Given the description of an element on the screen output the (x, y) to click on. 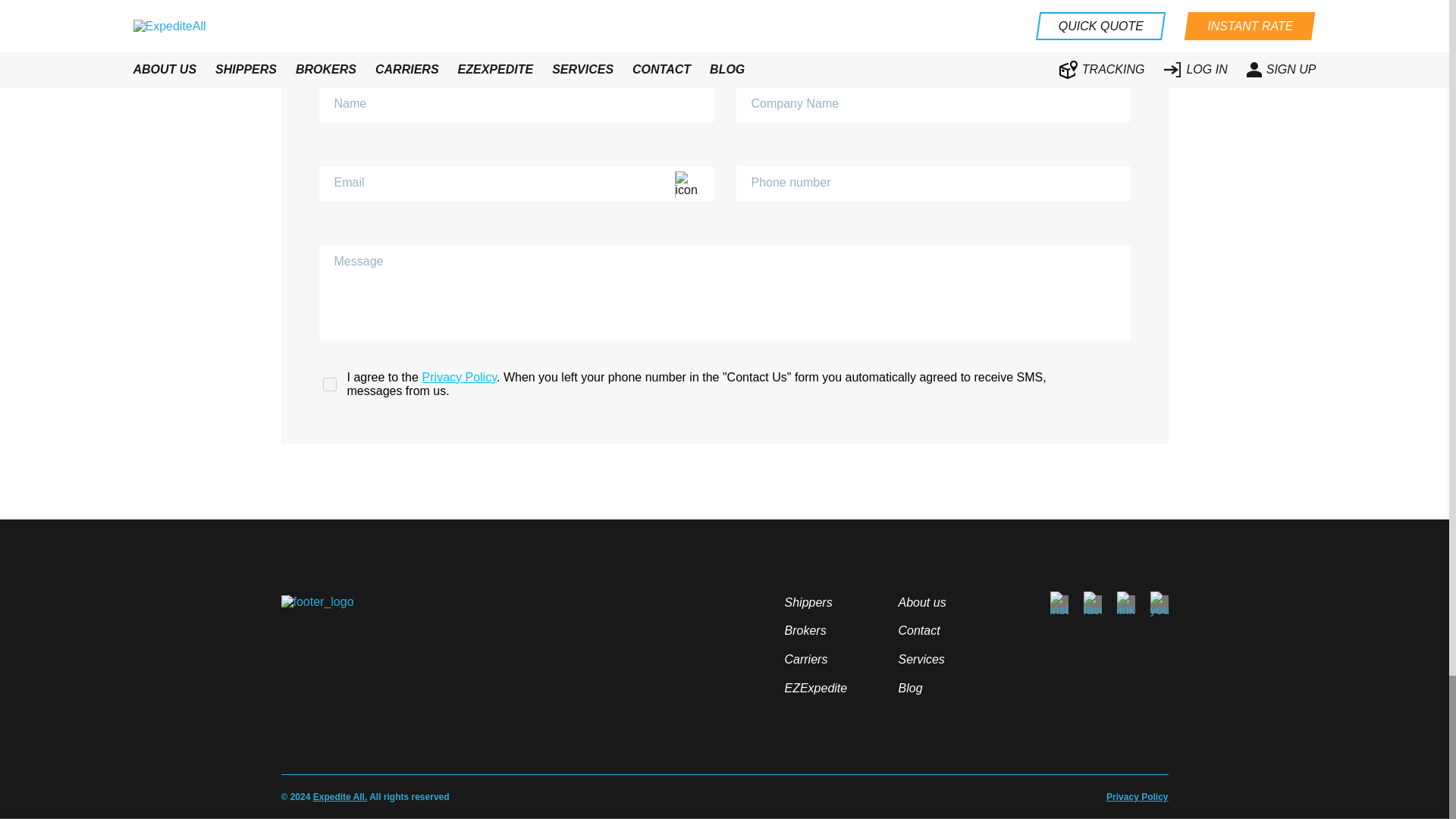
About us (921, 602)
Blog (909, 687)
Shippers (807, 602)
Privacy Policy (459, 377)
EZExpedite (815, 687)
Services (920, 658)
Brokers (804, 630)
Carriers (805, 658)
icon (692, 184)
1 (329, 384)
Contact (918, 630)
